Given the description of an element on the screen output the (x, y) to click on. 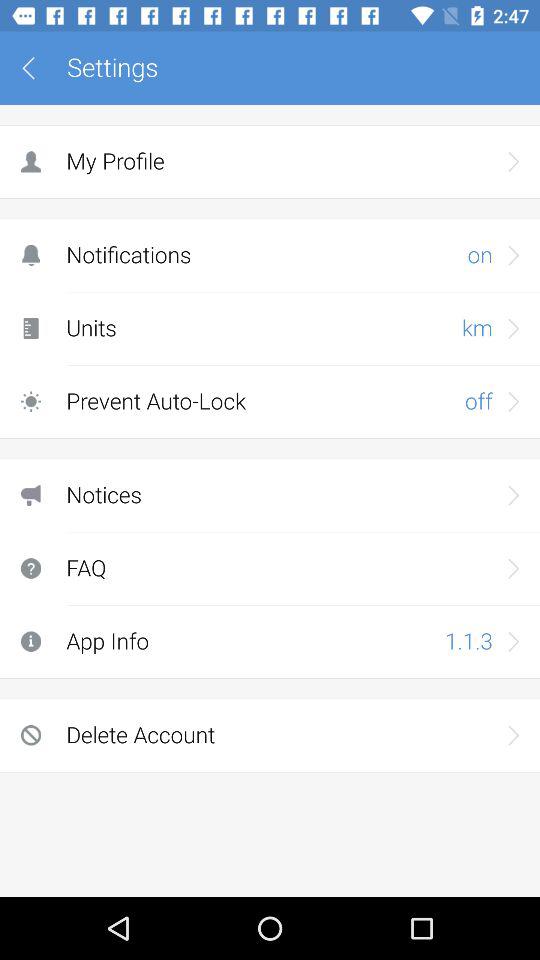
press app next to settings app (35, 67)
